Given the description of an element on the screen output the (x, y) to click on. 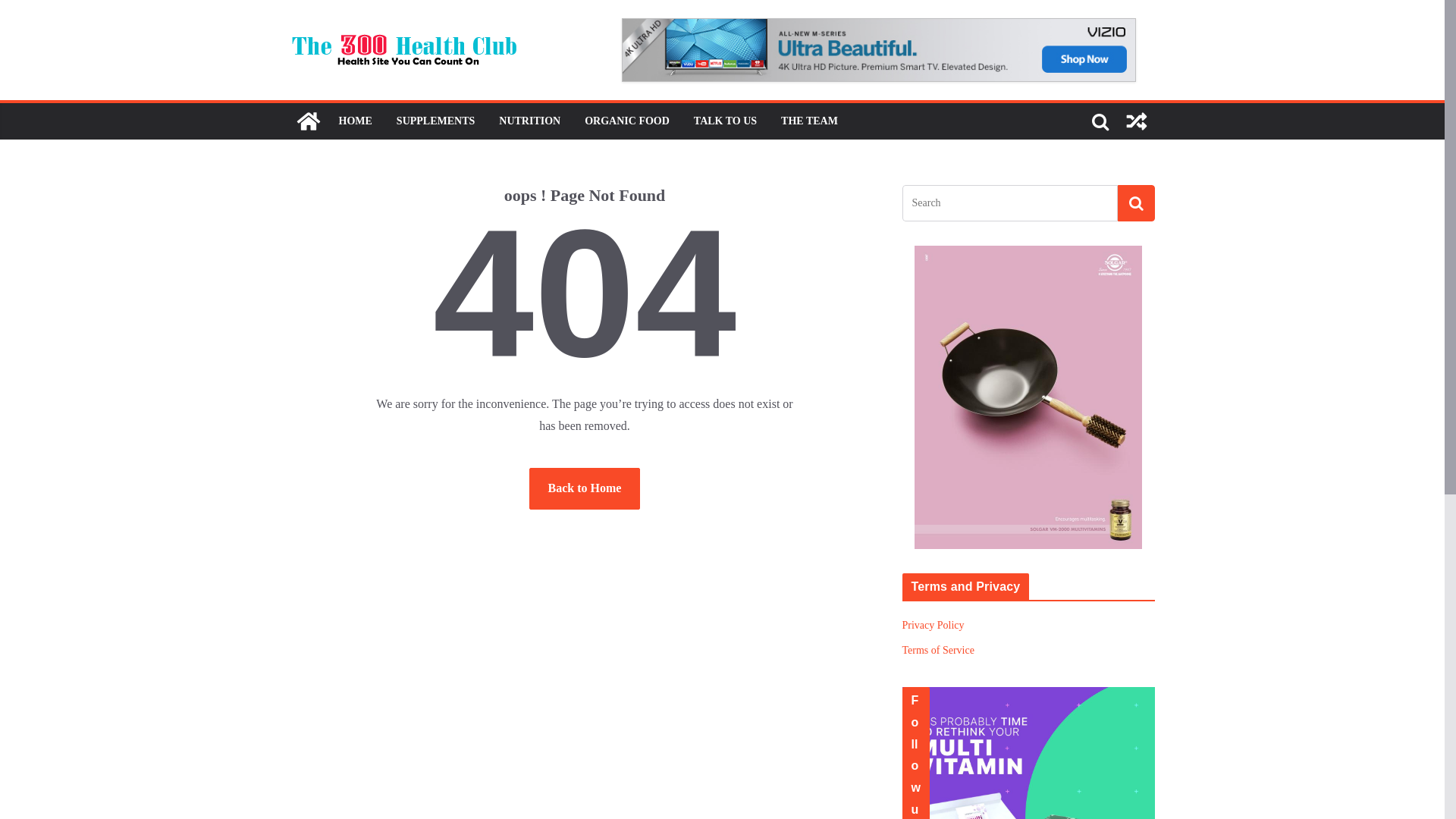
Privacy Policy Element type: text (933, 624)
THE TEAM Element type: text (809, 120)
SUPPLEMENTS Element type: text (435, 120)
HOME Element type: text (354, 120)
View a random post Element type: hover (1135, 121)
The 300 Health Club Element type: hover (307, 121)
Terms of Service Element type: text (938, 649)
NUTRITION Element type: text (529, 120)
TALK TO US Element type: text (724, 120)
Back to Home Element type: text (584, 488)
ORGANIC FOOD Element type: text (626, 120)
